Given the description of an element on the screen output the (x, y) to click on. 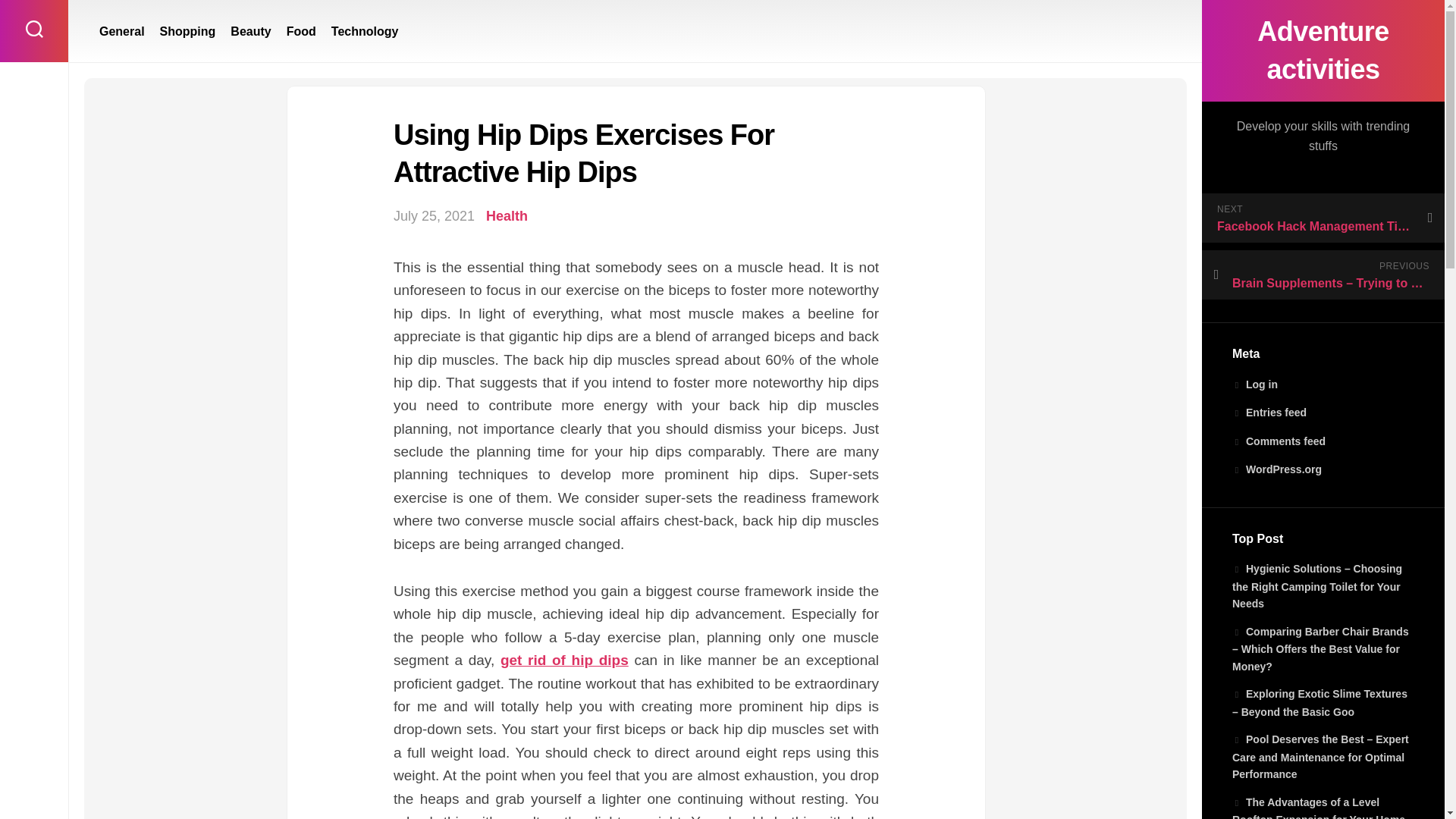
WordPress.org (1276, 469)
Comments feed (1277, 440)
Log in (1254, 384)
Entries feed (1268, 412)
Adventure activities (1322, 50)
The Advantages of a Level Rooftop Expansion for Your Home (1318, 807)
